Given the description of an element on the screen output the (x, y) to click on. 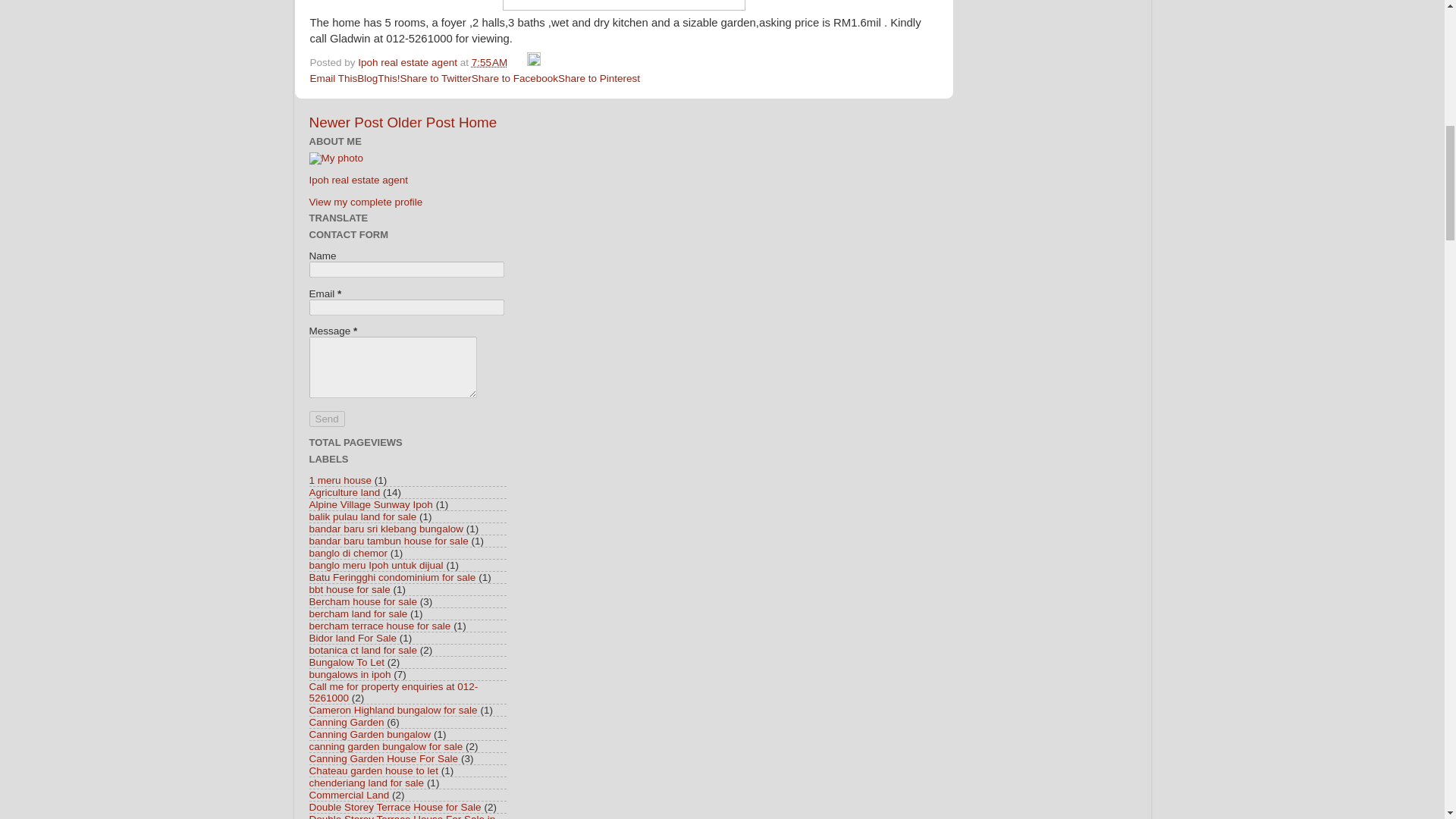
author profile (409, 61)
bbt house for sale (349, 589)
Alpine Village Sunway Ipoh (370, 504)
Batu Feringghi condominium for sale (392, 577)
banglo meru Ipoh untuk dijual (376, 564)
banglo di chemor (348, 552)
Email This (332, 78)
Bungalow To Let (346, 662)
BlogThis! (377, 78)
bercham land for sale (357, 613)
Bidor land For Sale (352, 637)
Newer Post (346, 122)
Email This (332, 78)
Email Post (519, 61)
Home (477, 122)
